Given the description of an element on the screen output the (x, y) to click on. 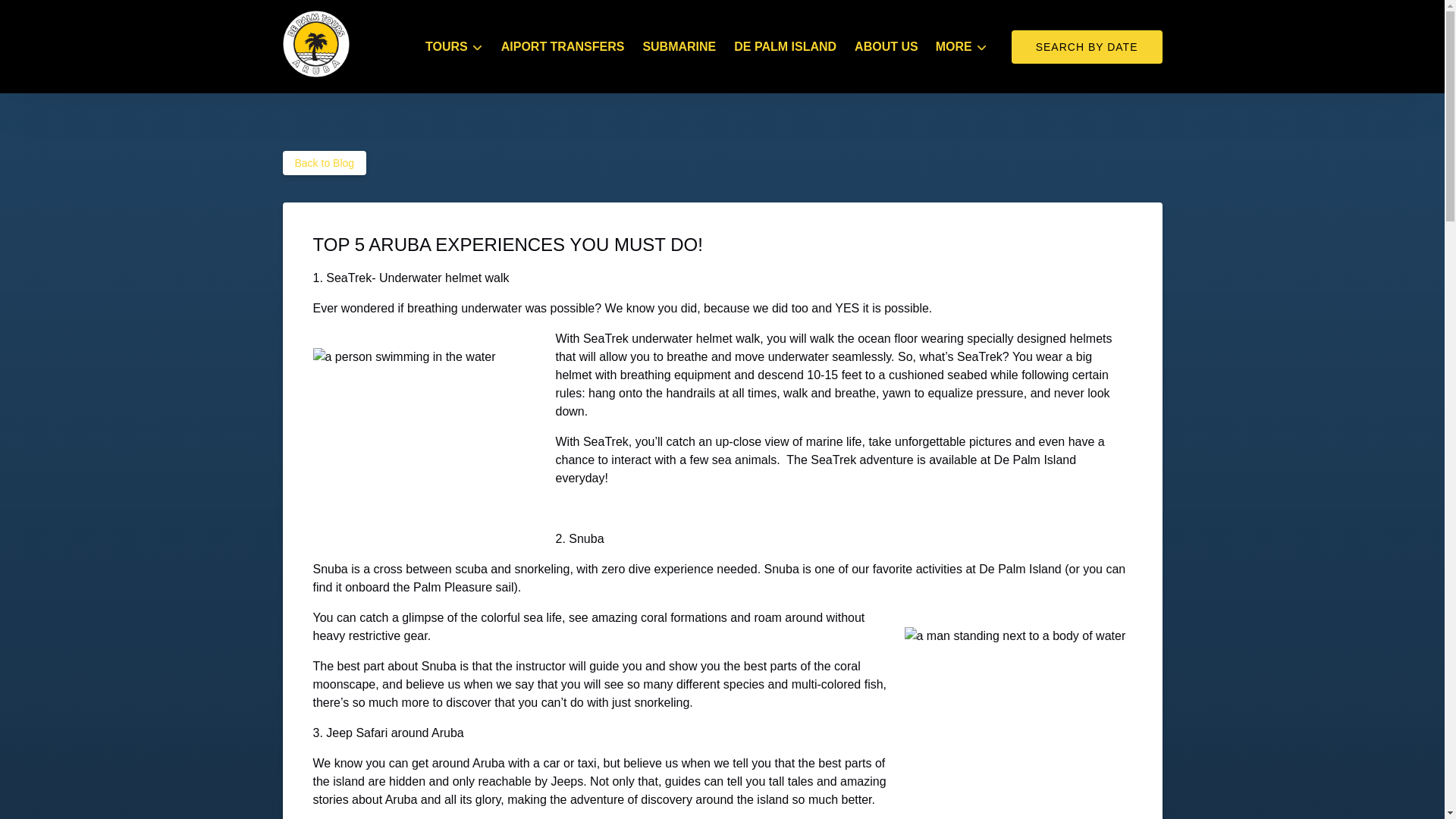
Skip to footer (42, 16)
MORE (960, 46)
Back to Blog (324, 162)
Open More Menu (964, 42)
ABOUT US (886, 46)
AIPORT TRANSFERS (562, 46)
TOURS (454, 46)
SEARCH BY DATE (1086, 46)
SUBMARINE (679, 46)
Skip to content (47, 16)
